Given the description of an element on the screen output the (x, y) to click on. 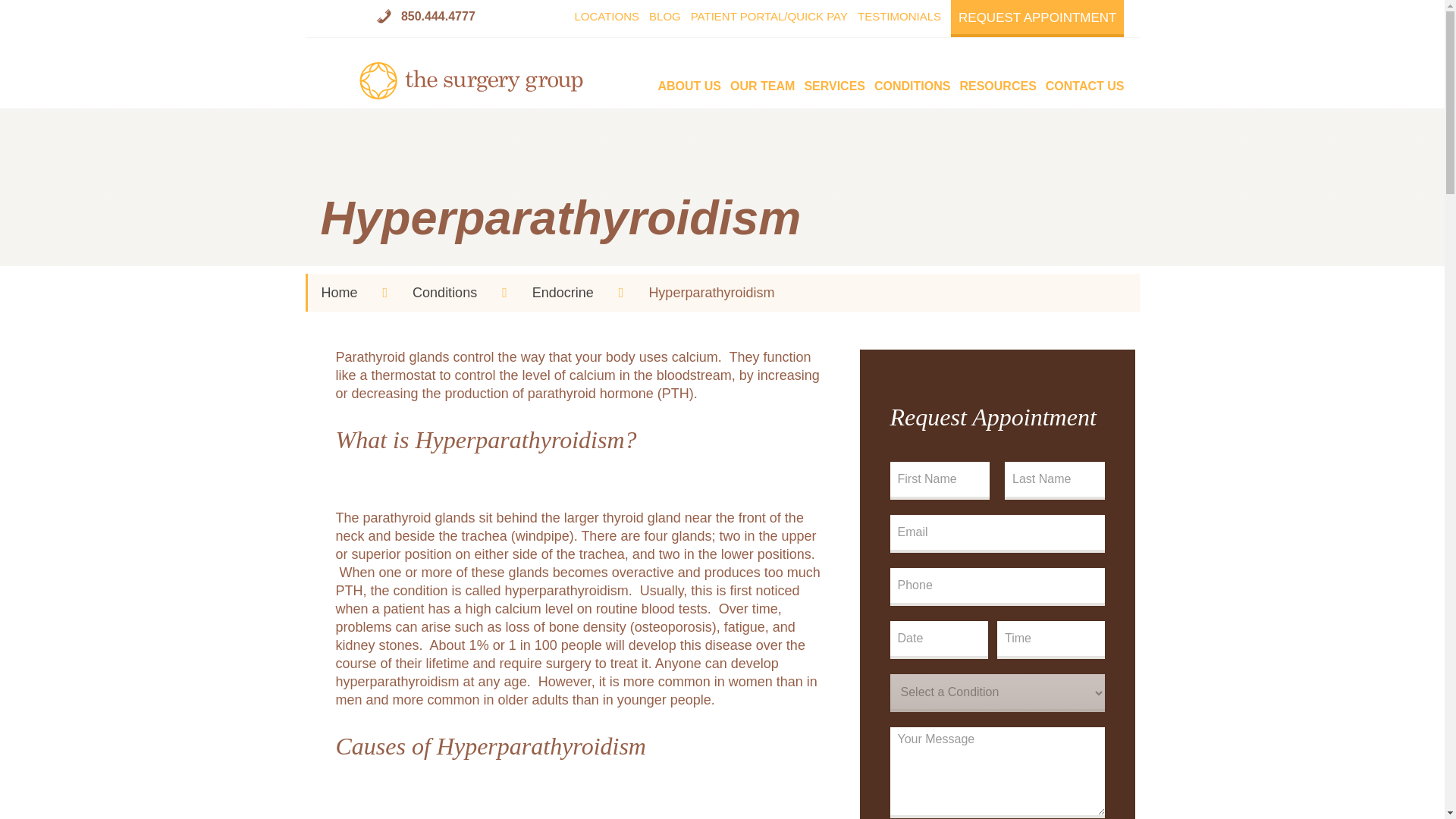
ABOUT US (689, 80)
LOCATIONS (606, 18)
SERVICES (833, 80)
TESTIMONIALS (898, 18)
CONDITIONS (912, 80)
REQUEST APPOINTMENT (1037, 18)
850.444.4777 (425, 17)
OUR TEAM (762, 80)
